Given the description of an element on the screen output the (x, y) to click on. 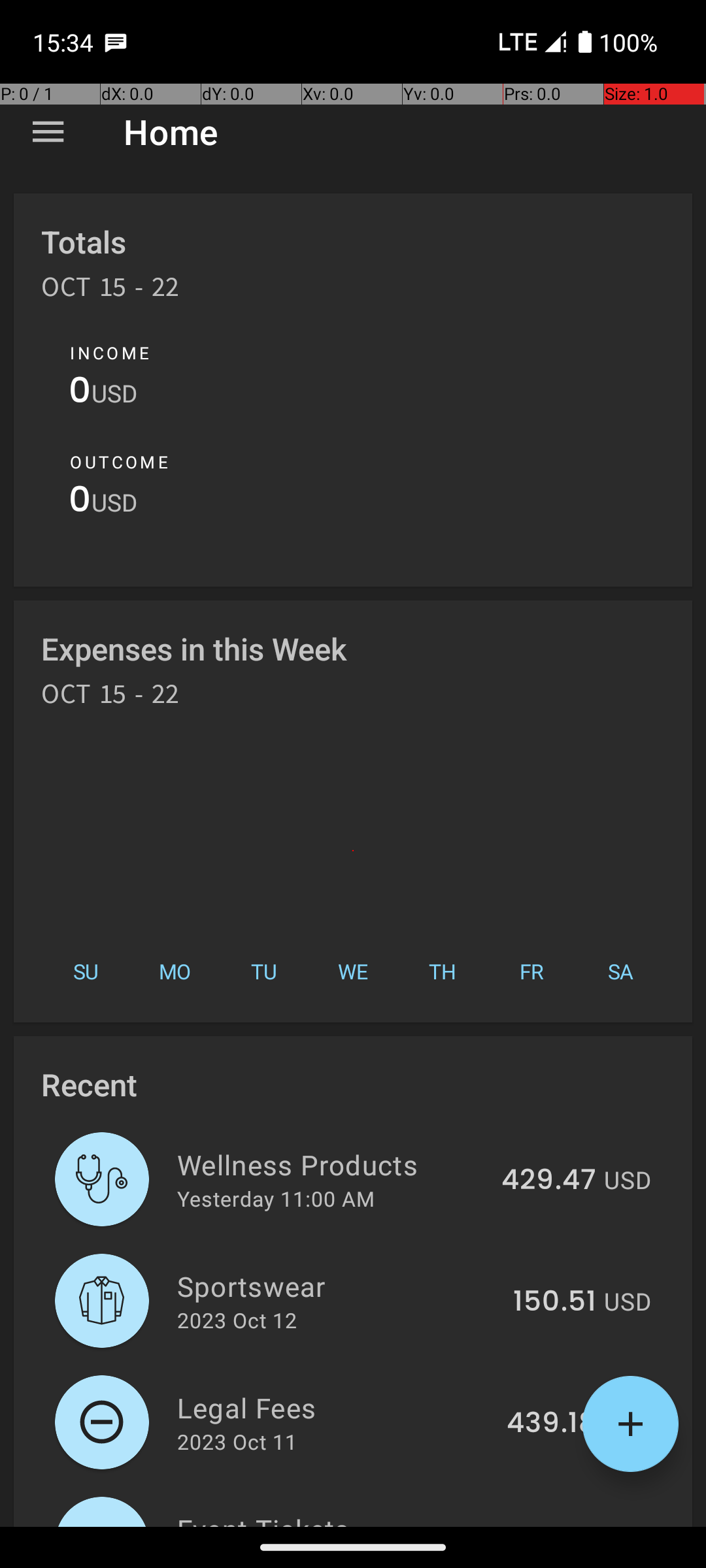
Wellness Products Element type: android.widget.TextView (331, 1164)
Yesterday 11:00 AM Element type: android.widget.TextView (275, 1198)
429.47 Element type: android.widget.TextView (548, 1180)
Sportswear Element type: android.widget.TextView (337, 1285)
150.51 Element type: android.widget.TextView (554, 1301)
Legal Fees Element type: android.widget.TextView (334, 1407)
439.18 Element type: android.widget.TextView (550, 1423)
Event Tickets Element type: android.widget.TextView (331, 1518)
487.53 Element type: android.widget.TextView (548, 1524)
